Given the description of an element on the screen output the (x, y) to click on. 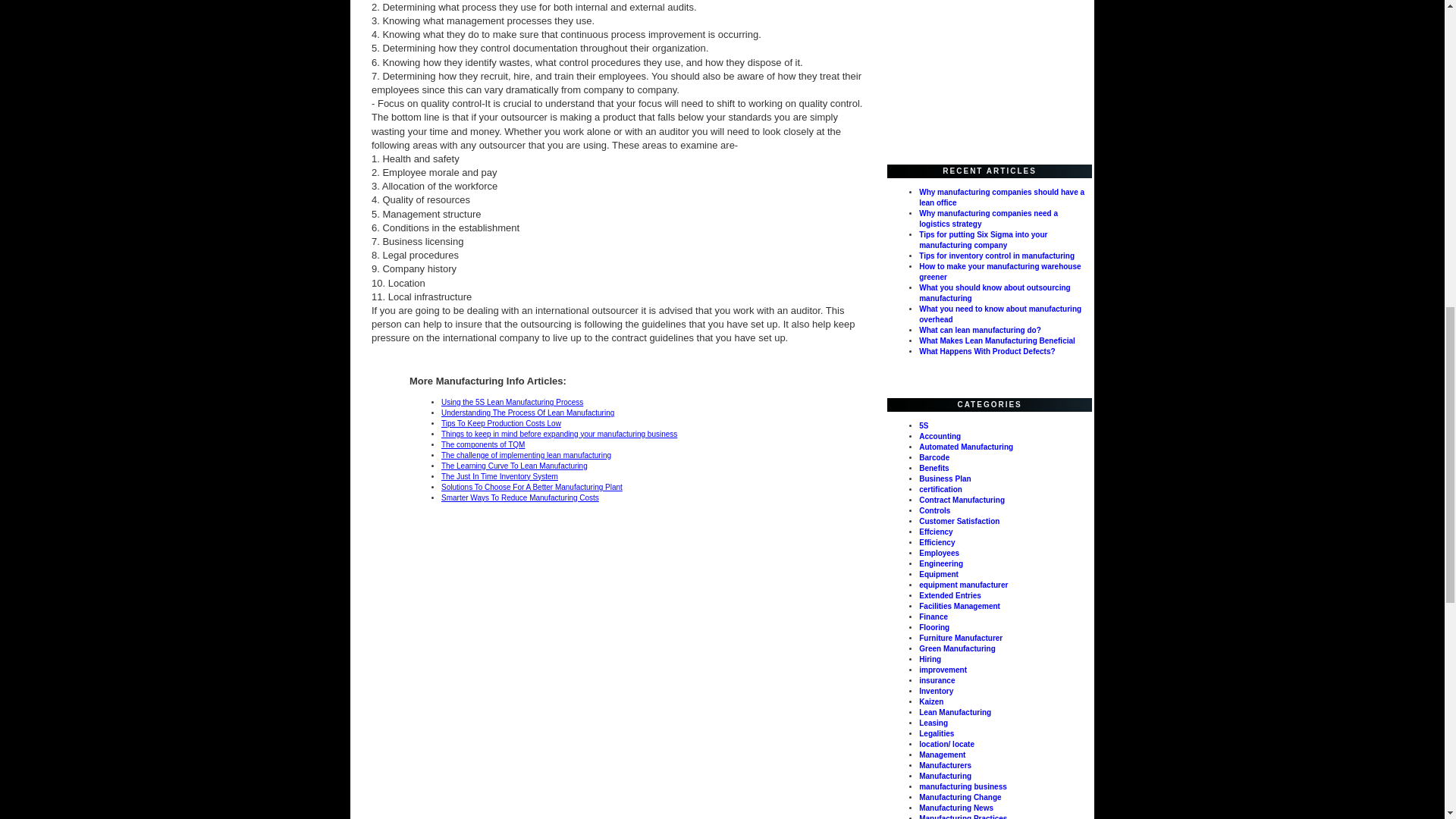
Smarter Ways To Reduce Manufacturing Costs (519, 497)
How to make your manufacturing warehouse greener (999, 271)
Tips for inventory control in manufacturing (996, 255)
Tips To Keep Production Costs Low (500, 423)
certification (940, 489)
The challenge of implementing lean manufacturing (526, 455)
Automated Manufacturing (965, 447)
Why manufacturing companies need a logistics strategy (988, 218)
What you need to know about manufacturing overhead (999, 313)
Customer Satisfaction (958, 520)
